Given the description of an element on the screen output the (x, y) to click on. 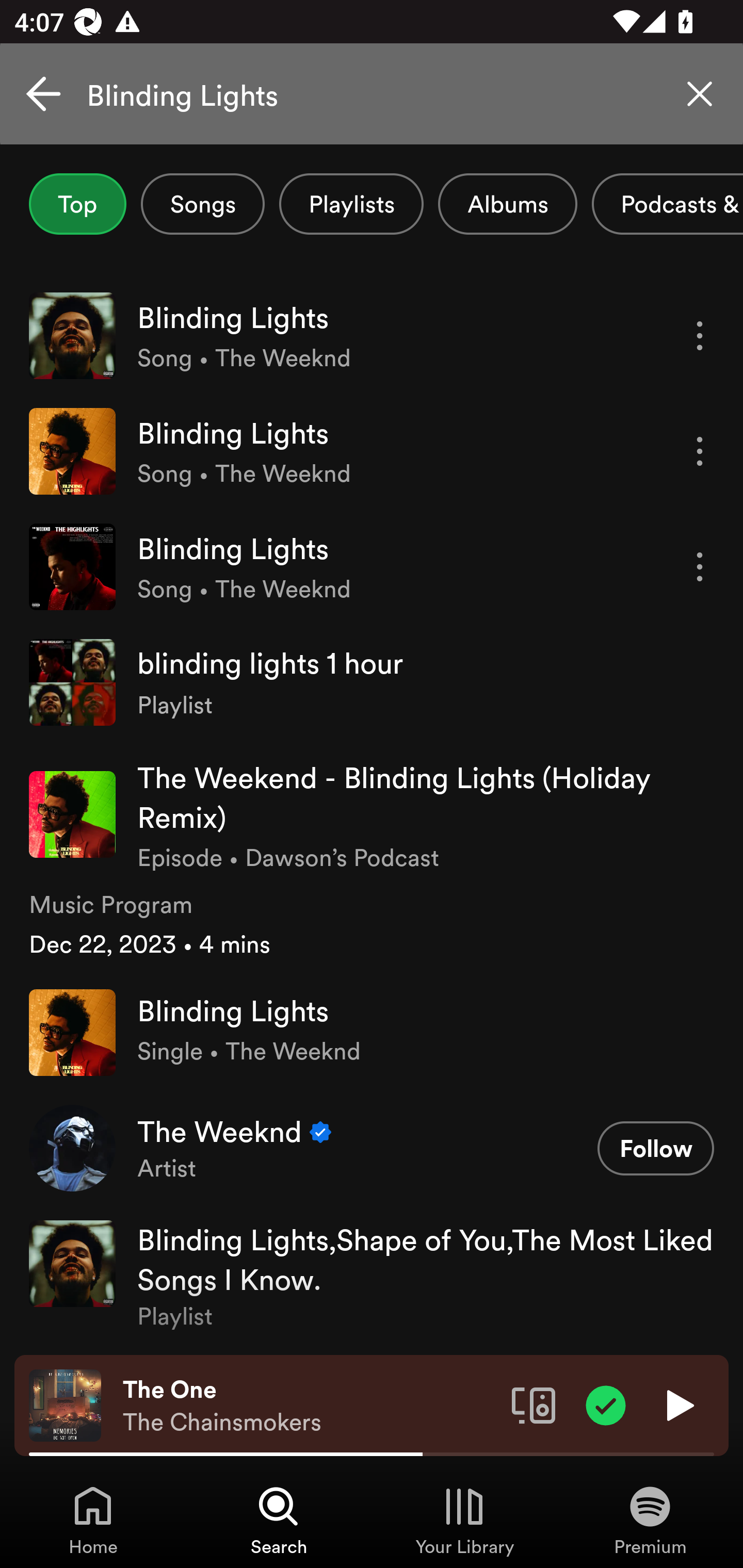
Blinding Lights (371, 93)
Cancel (43, 93)
Clear search query (699, 93)
Top (77, 203)
Songs (202, 203)
Playlists (351, 203)
Albums (507, 203)
Podcasts & Shows (667, 203)
More options for song Blinding Lights (699, 336)
More options for song Blinding Lights (699, 450)
More options for song Blinding Lights (699, 566)
blinding lights 1 hour Playlist (371, 682)
Blinding Lights Single • The Weeknd (371, 1032)
The Weeknd Verified Artist Follow Follow (371, 1147)
Follow (655, 1148)
The One The Chainsmokers (309, 1405)
The cover art of the currently playing track (64, 1404)
Connect to a device. Opens the devices menu (533, 1404)
Item added (605, 1404)
Play (677, 1404)
Home, Tab 1 of 4 Home Home (92, 1519)
Search, Tab 2 of 4 Search Search (278, 1519)
Your Library, Tab 3 of 4 Your Library Your Library (464, 1519)
Premium, Tab 4 of 4 Premium Premium (650, 1519)
